Given the description of an element on the screen output the (x, y) to click on. 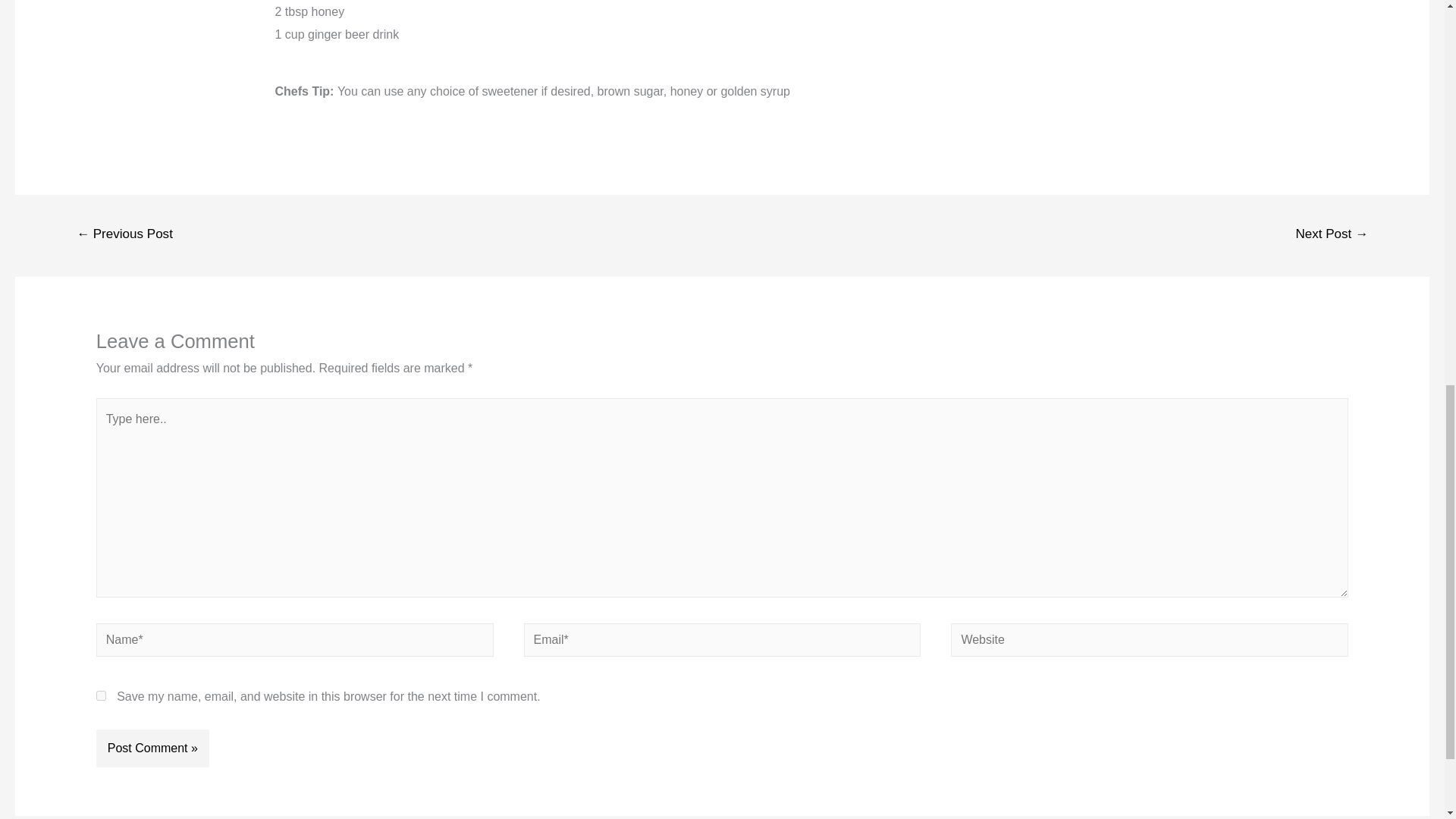
yes (101, 696)
